Given the description of an element on the screen output the (x, y) to click on. 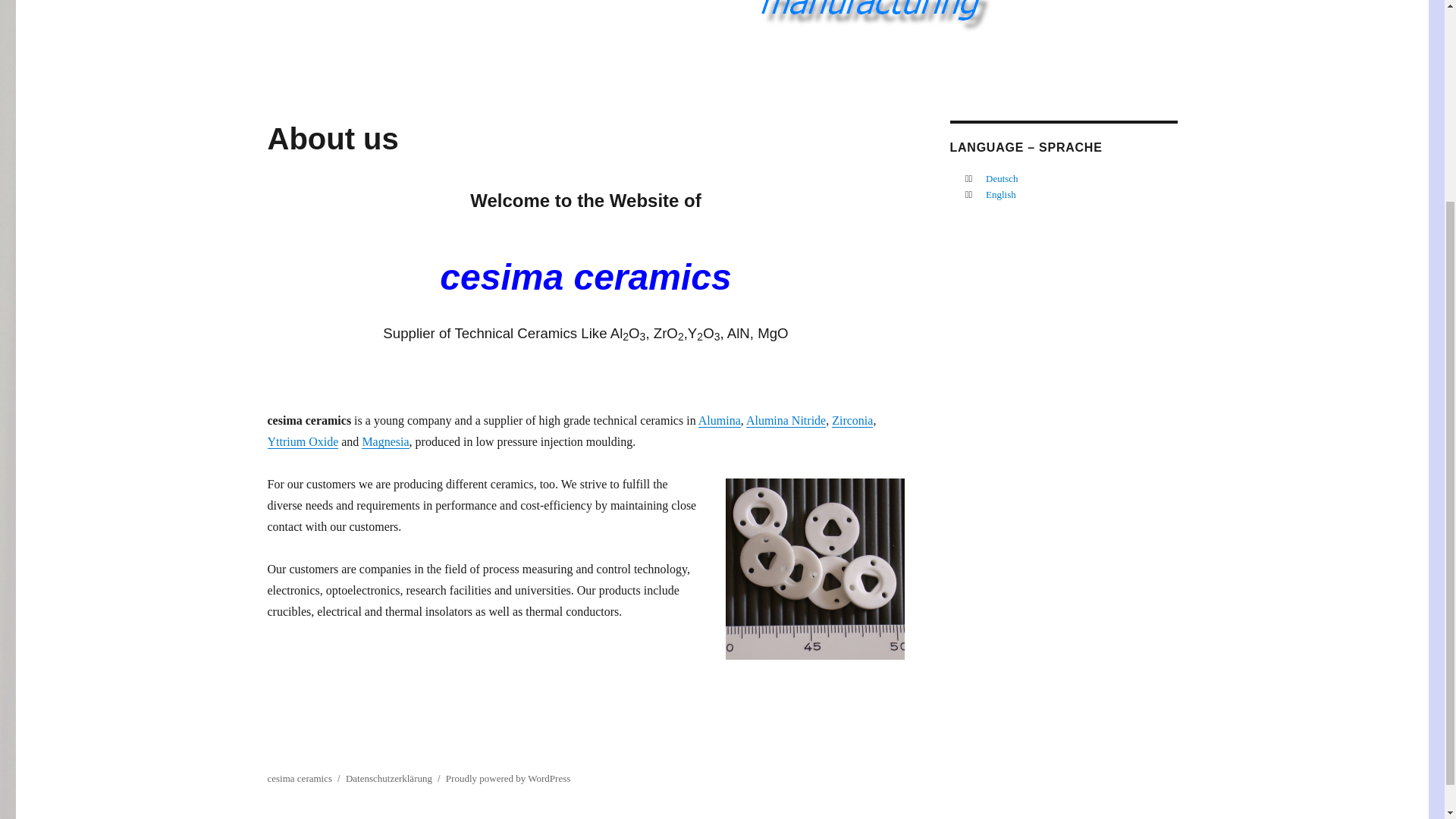
Alumina (719, 420)
English (1000, 194)
Zirconia (851, 420)
Yttrium Oxide (301, 440)
cesima ceramics (298, 778)
German (1001, 178)
Magnesia (385, 440)
Deutsch (1001, 178)
Alumina Nitride (785, 420)
English (1000, 194)
